Given the description of an element on the screen output the (x, y) to click on. 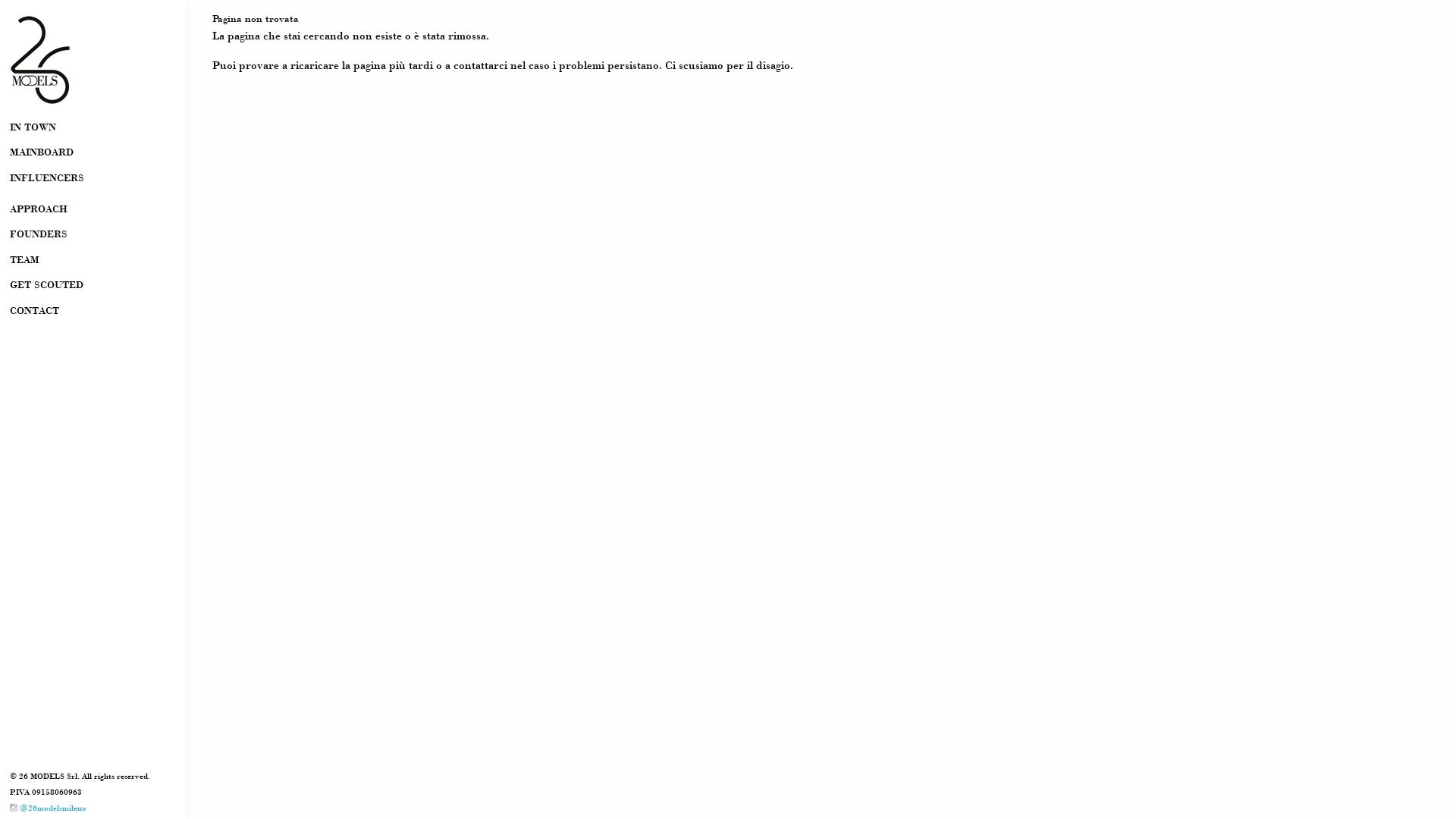
GET SCOUTED Element type: text (94, 285)
@26modelsmilano Element type: text (47, 807)
APPROACH Element type: text (94, 209)
FOUNDERS Element type: text (94, 234)
IN TOWN Element type: text (94, 127)
INFLUENCERS Element type: text (94, 178)
TEAM Element type: text (94, 260)
MAINBOARD Element type: text (94, 153)
CONTACT Element type: text (94, 310)
